Given the description of an element on the screen output the (x, y) to click on. 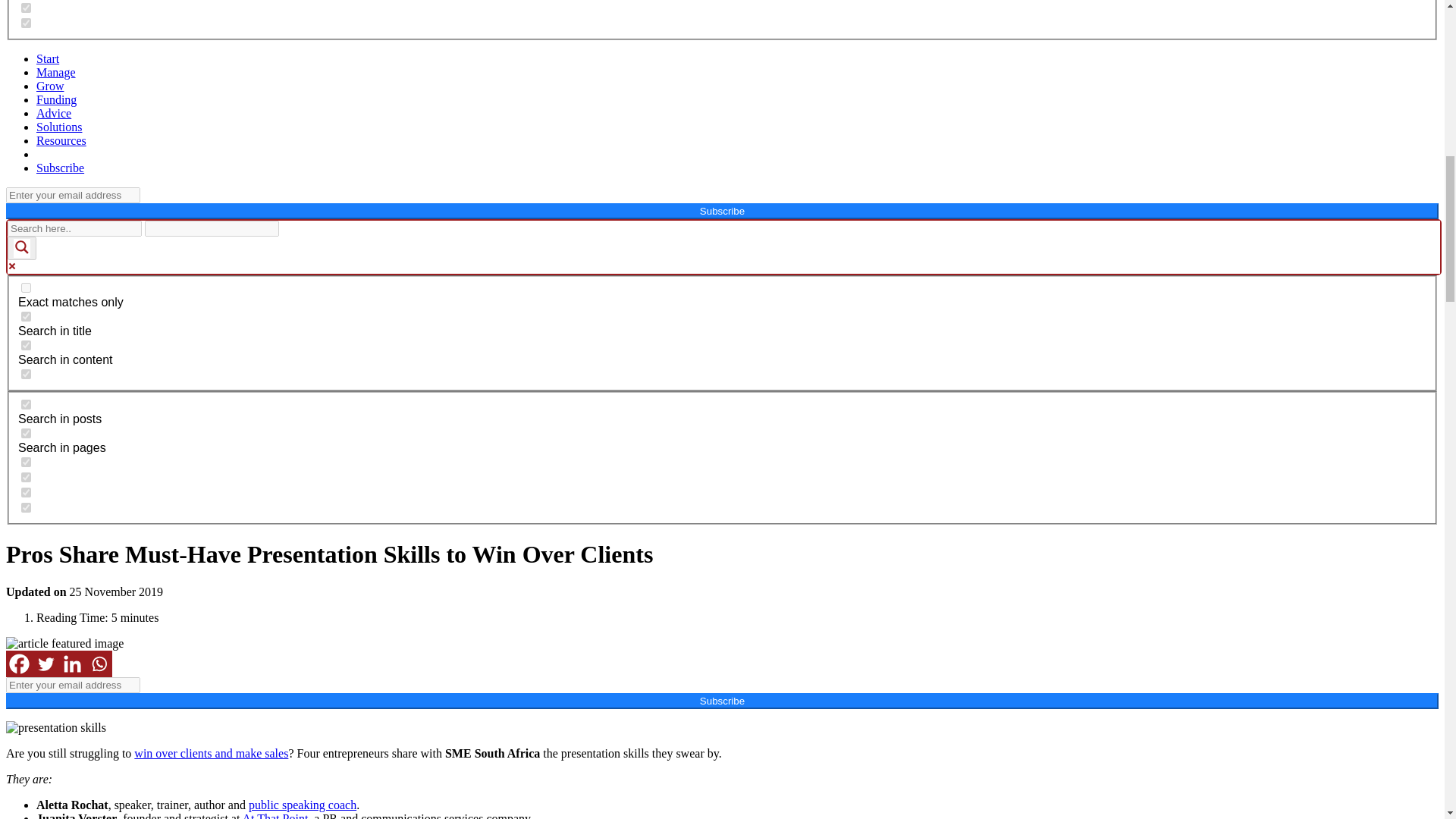
Start search (288, 222)
exact (25, 287)
Twitter (45, 663)
post (25, 404)
Resources (60, 140)
Whatsapp (98, 663)
Manage (55, 72)
win over clients and make sales (210, 753)
Advice (53, 113)
excerpt (25, 374)
Solutions (58, 126)
Subscribe (60, 167)
Start (47, 58)
Facebook (18, 663)
title (25, 316)
